Given the description of an element on the screen output the (x, y) to click on. 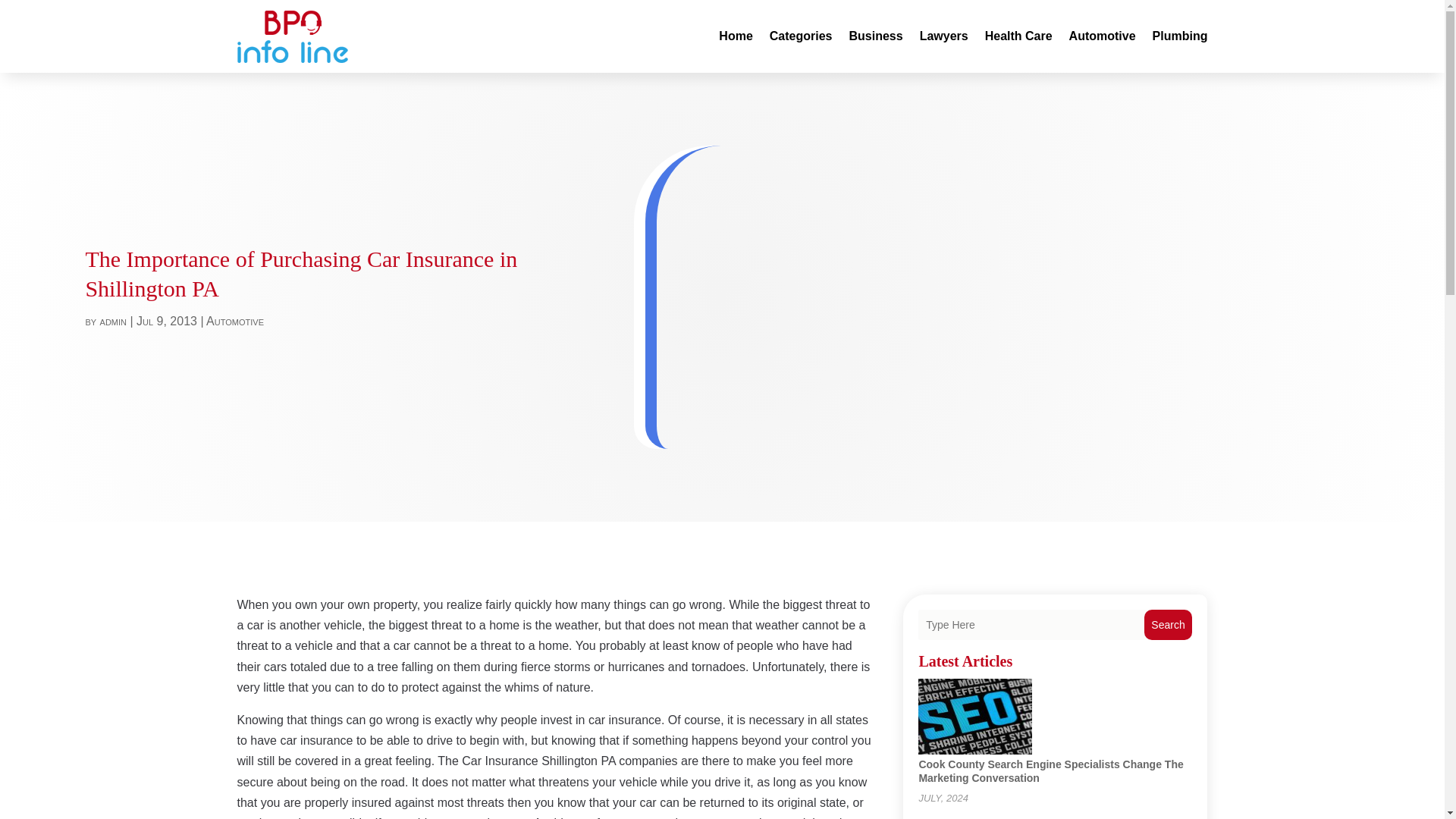
admin (113, 320)
Health Care (1018, 36)
Categories (801, 36)
Business (875, 36)
Automotive (1101, 36)
Posts by admin (113, 320)
Plumbing (1180, 36)
Automotive (234, 320)
Search (1168, 624)
